Given the description of an element on the screen output the (x, y) to click on. 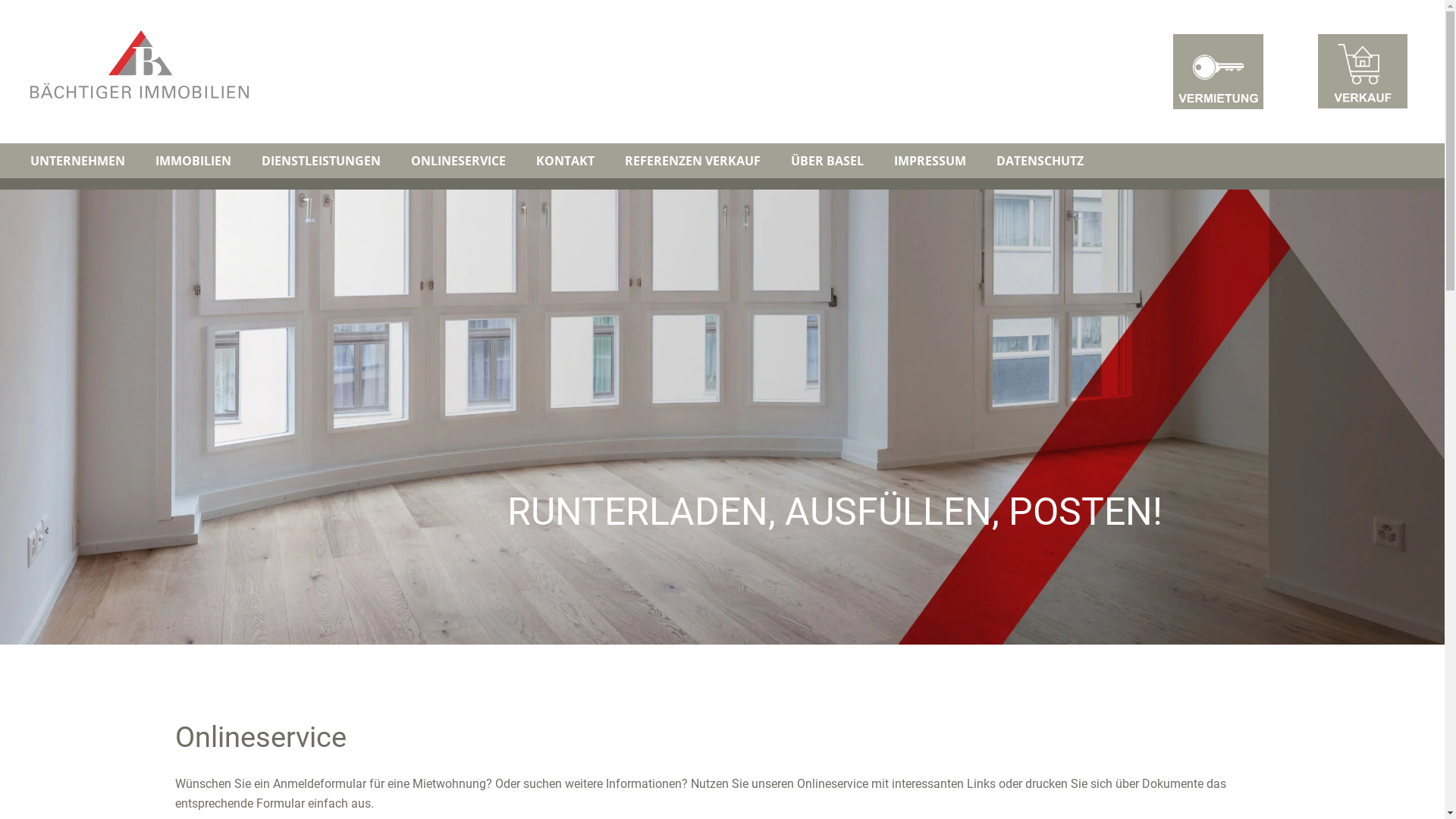
Header Element type: hover (1362, 71)
IMPRESSUM Element type: text (929, 160)
ONLINESERVICE Element type: text (457, 160)
KONTAKT Element type: text (564, 160)
UNTERNEHMEN Element type: text (77, 160)
DATENSCHUTZ Element type: text (1039, 160)
Header Element type: hover (1217, 71)
DIENSTLEISTUNGEN Element type: text (320, 160)
REFERENZEN VERKAUF Element type: text (692, 160)
Onlineservice Element type: hover (139, 64)
IMMOBILIEN Element type: text (193, 160)
onlineservice_background Element type: hover (722, 416)
